Given the description of an element on the screen output the (x, y) to click on. 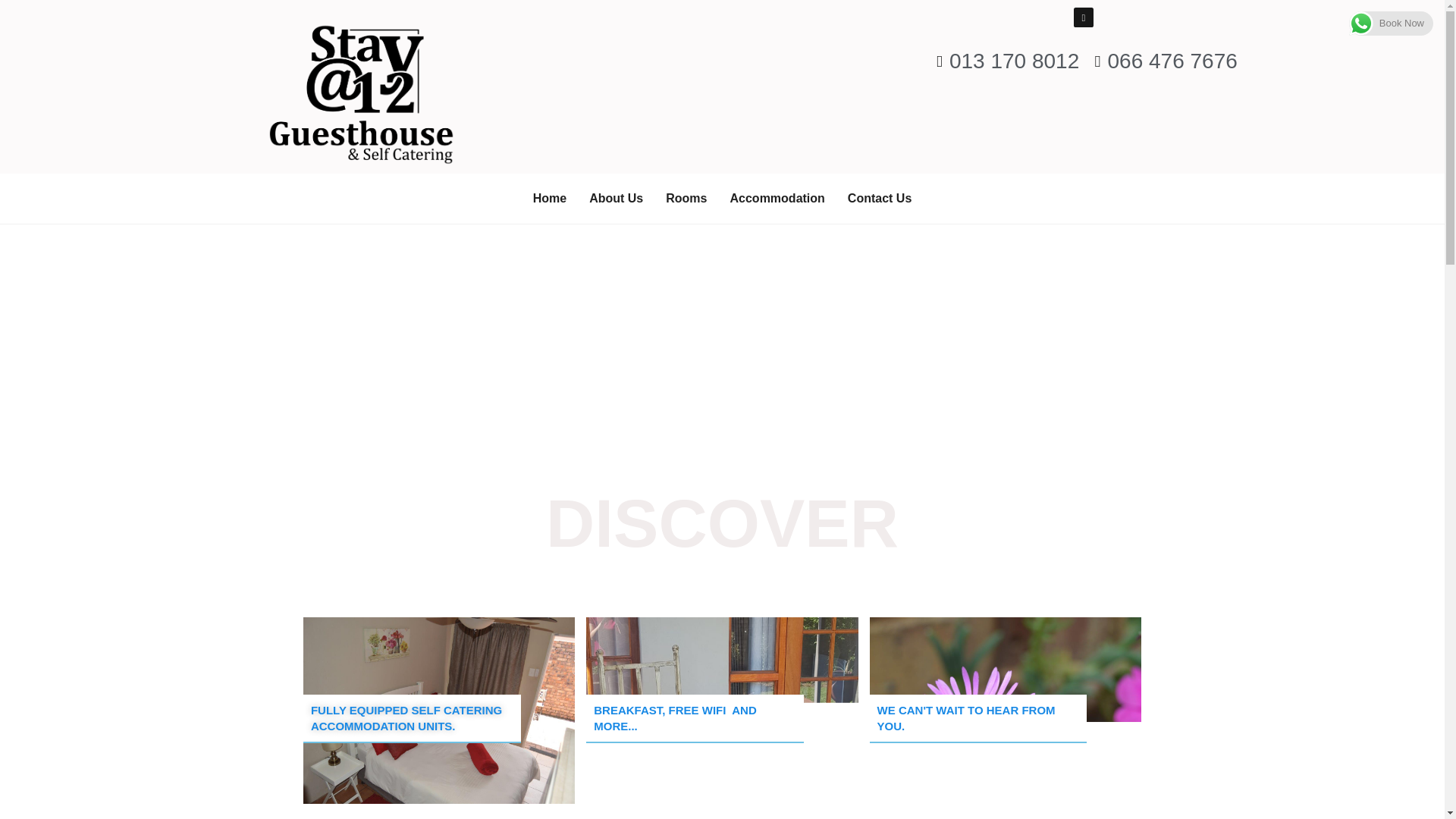
Rooms (685, 198)
About Us (615, 198)
Home (549, 198)
Accommodation (777, 198)
Contact Us (879, 198)
